Given the description of an element on the screen output the (x, y) to click on. 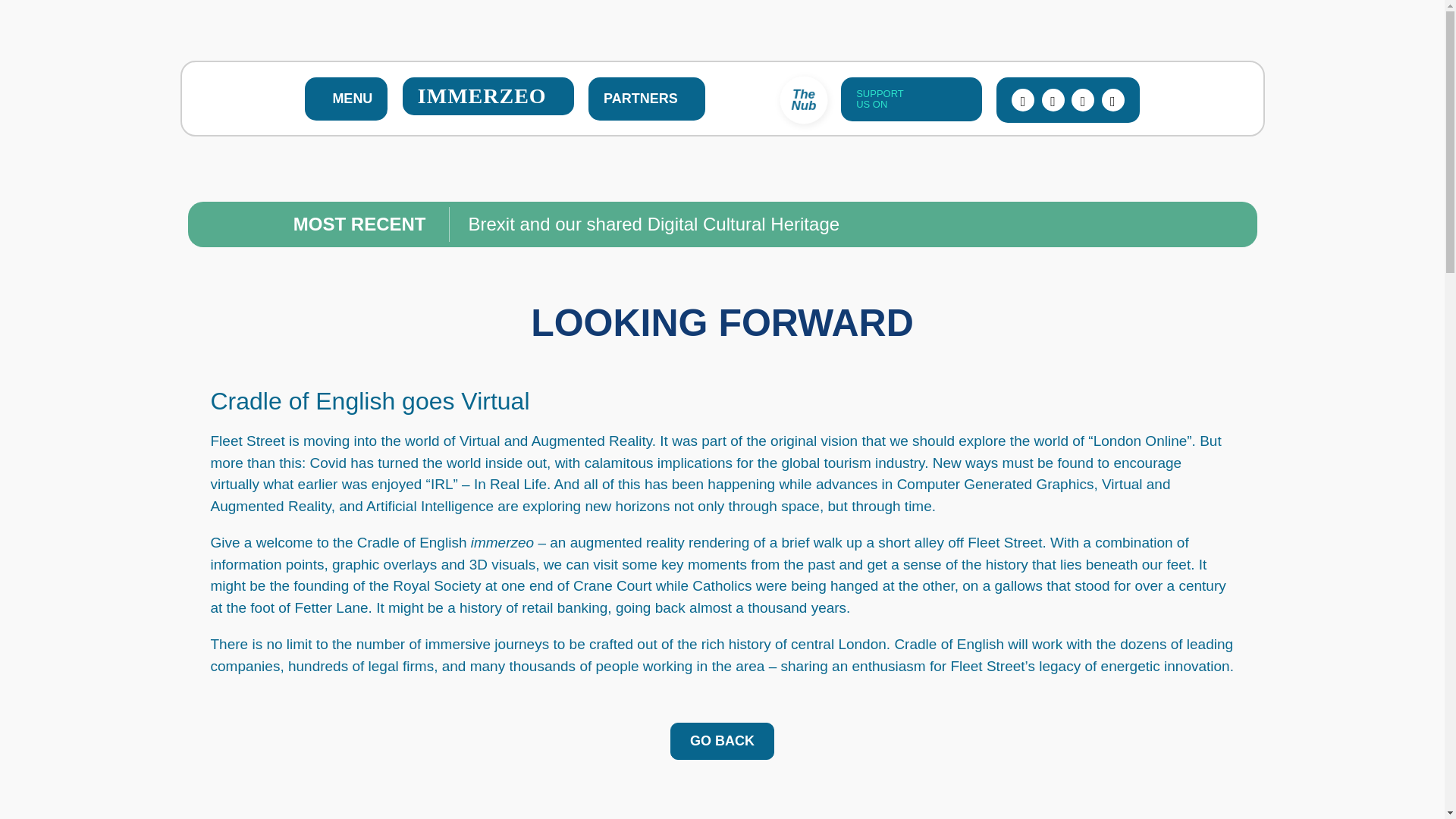
PARTNERS (646, 98)
IMMERZEO (488, 95)
MENU (345, 98)
